Given the description of an element on the screen output the (x, y) to click on. 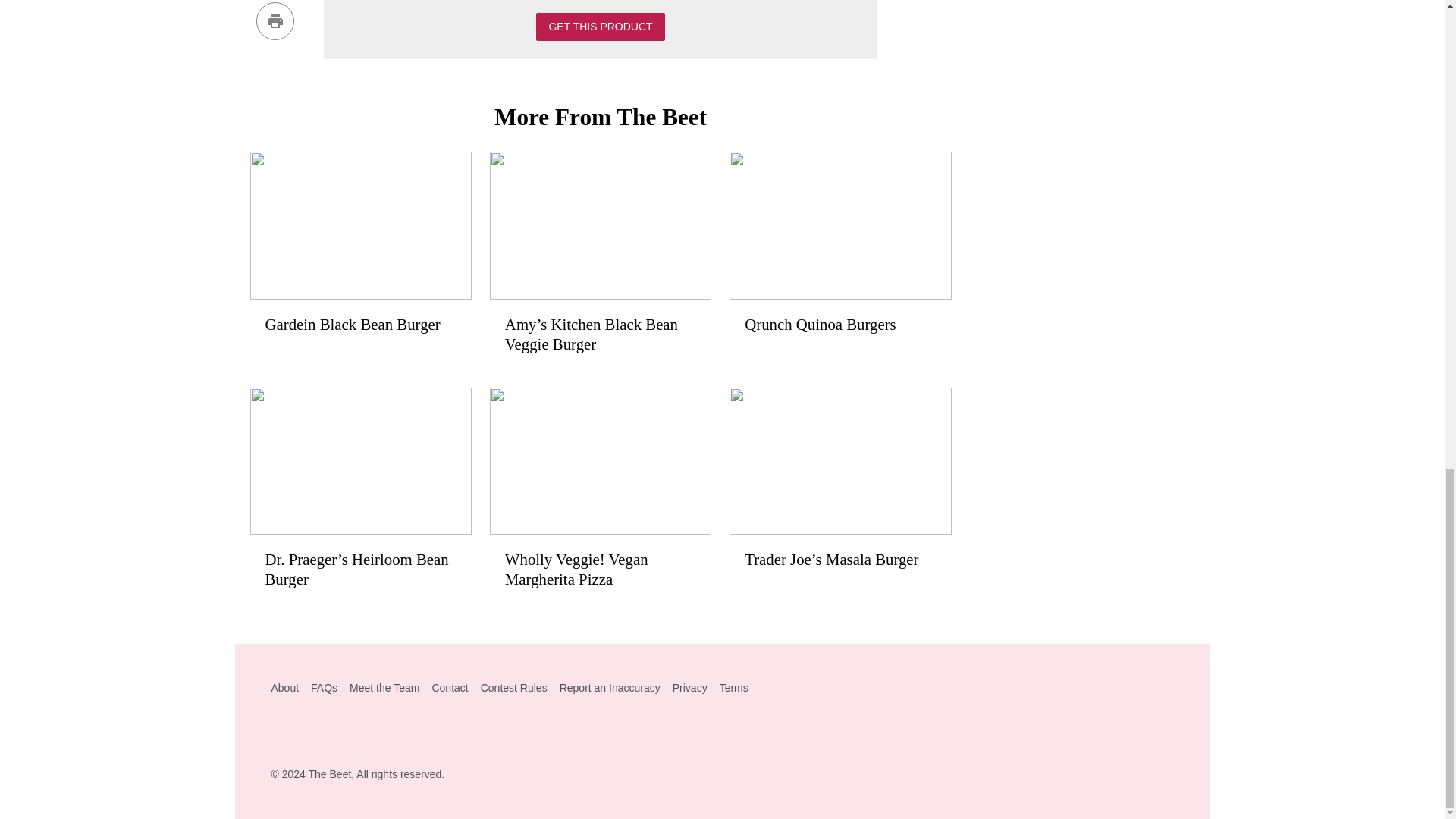
Gardein Black Bean Burger (360, 250)
GET THIS PRODUCT (599, 26)
Wholly Veggie! Vegan Margherita Pizza (600, 496)
Privacy (689, 687)
About (284, 687)
FAQs (324, 687)
Wholly Veggie! Vegan Margherita Pizza (600, 496)
Terms (733, 687)
Report an Inaccuracy (610, 687)
Contact (448, 687)
